Given the description of an element on the screen output the (x, y) to click on. 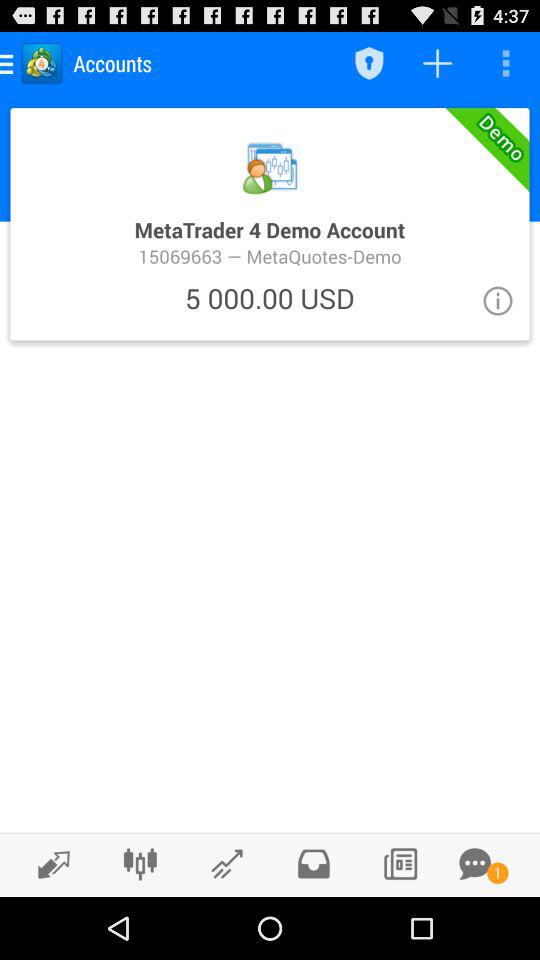
exchange funds (48, 864)
